Given the description of an element on the screen output the (x, y) to click on. 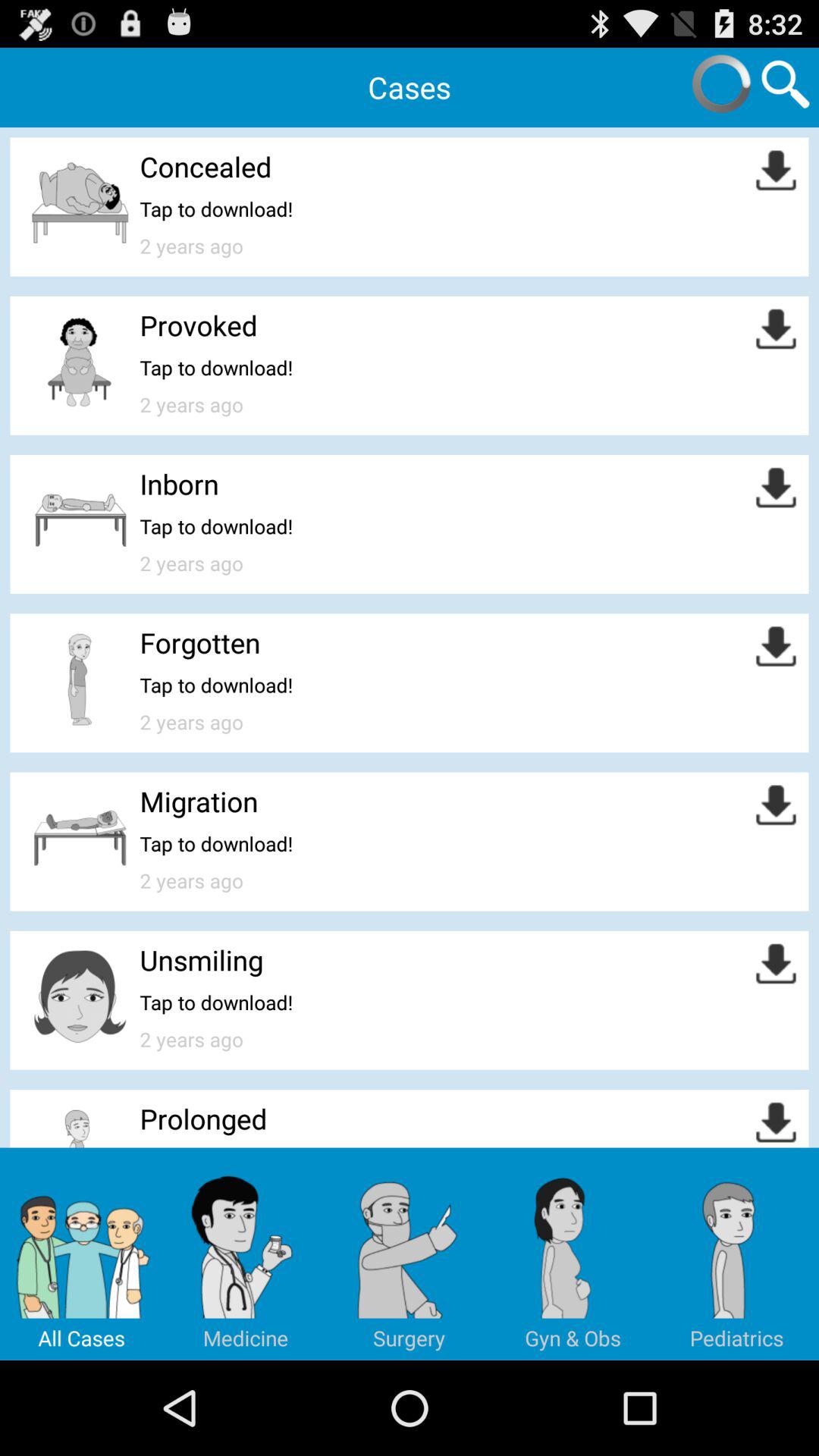
scroll until the concealed app (205, 166)
